Given the description of an element on the screen output the (x, y) to click on. 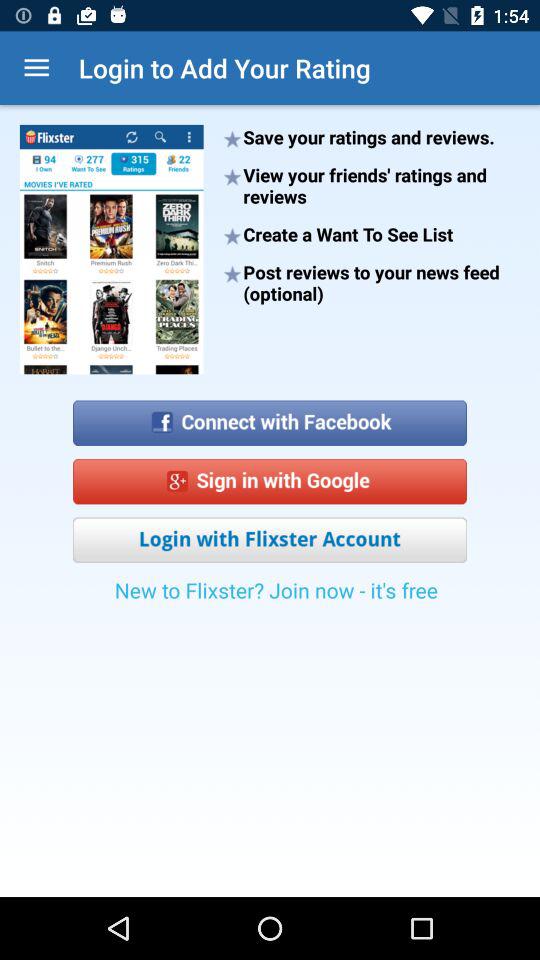
sign up with facebook (270, 416)
